Given the description of an element on the screen output the (x, y) to click on. 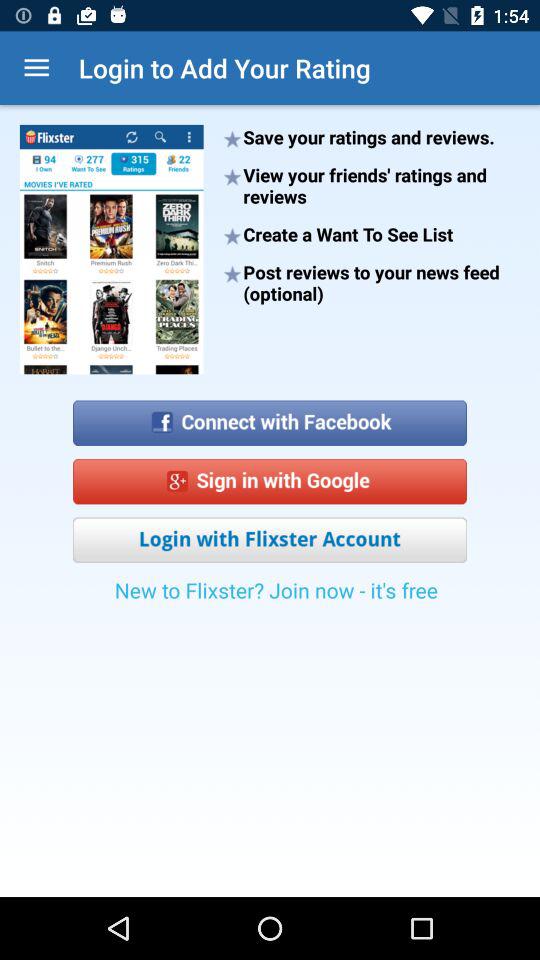
sign up with facebook (270, 416)
